Given the description of an element on the screen output the (x, y) to click on. 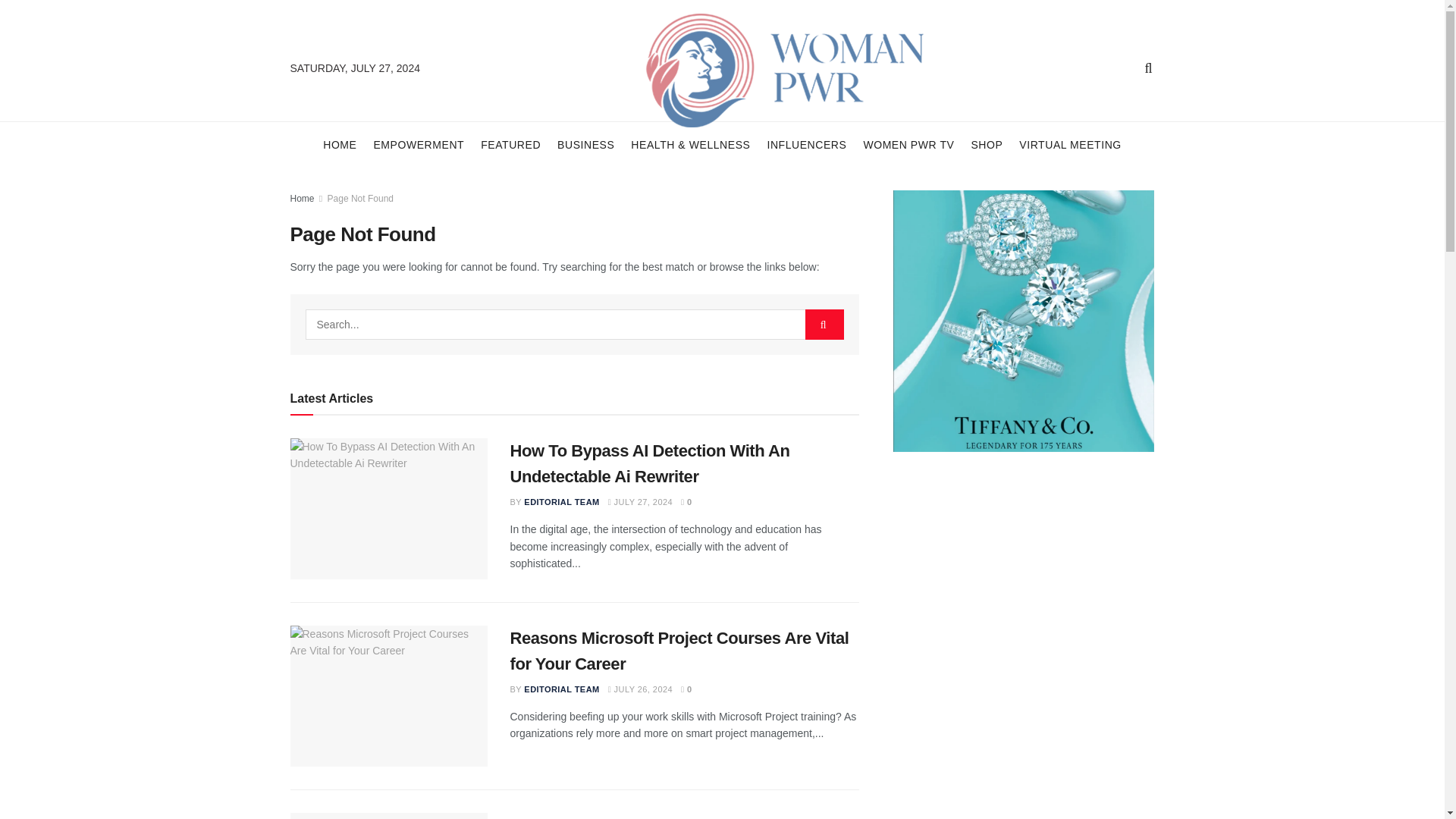
EDITORIAL TEAM (561, 501)
VIRTUAL MEETING (1070, 144)
JULY 27, 2024 (640, 501)
Reasons Microsoft Project Courses Are Vital for Your Career (387, 695)
HOME (339, 144)
0 (687, 501)
BUSINESS (585, 144)
How To Bypass AI Detection With An Undetectable Ai Rewriter (649, 463)
EMPOWERMENT (418, 144)
How To Bypass AI Detection With An Undetectable Ai Rewriter (387, 508)
SHOP (987, 144)
INFLUENCERS (806, 144)
Home (301, 198)
Reasons Microsoft Project Courses Are Vital for Your Career (678, 650)
Page Not Found (360, 198)
